Given the description of an element on the screen output the (x, y) to click on. 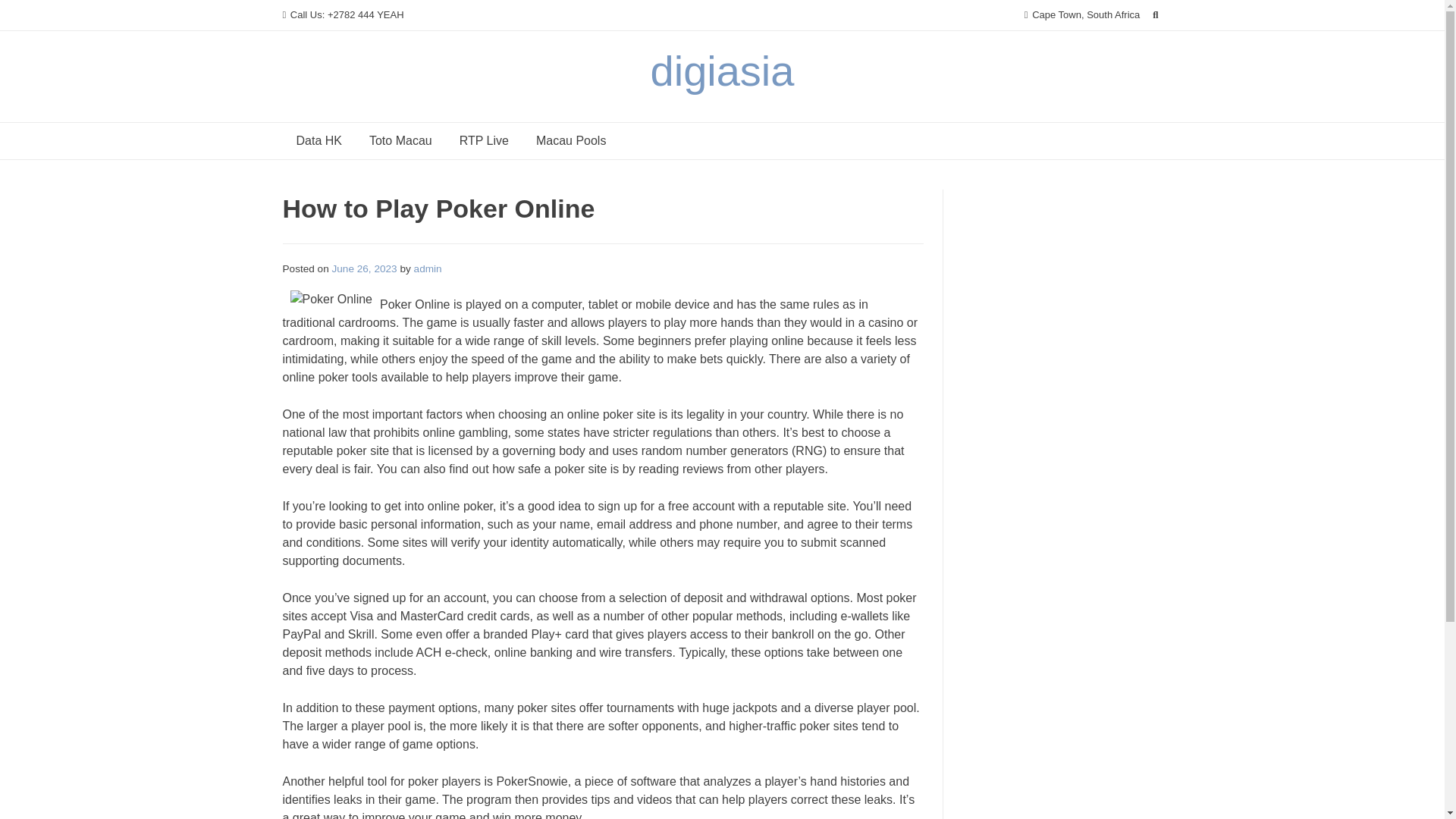
RTP Live (483, 140)
digiasia (722, 70)
admin (427, 268)
Data HK (318, 140)
June 26, 2023 (364, 268)
Macau Pools (571, 140)
Search (27, 13)
Toto Macau (400, 140)
